Given the description of an element on the screen output the (x, y) to click on. 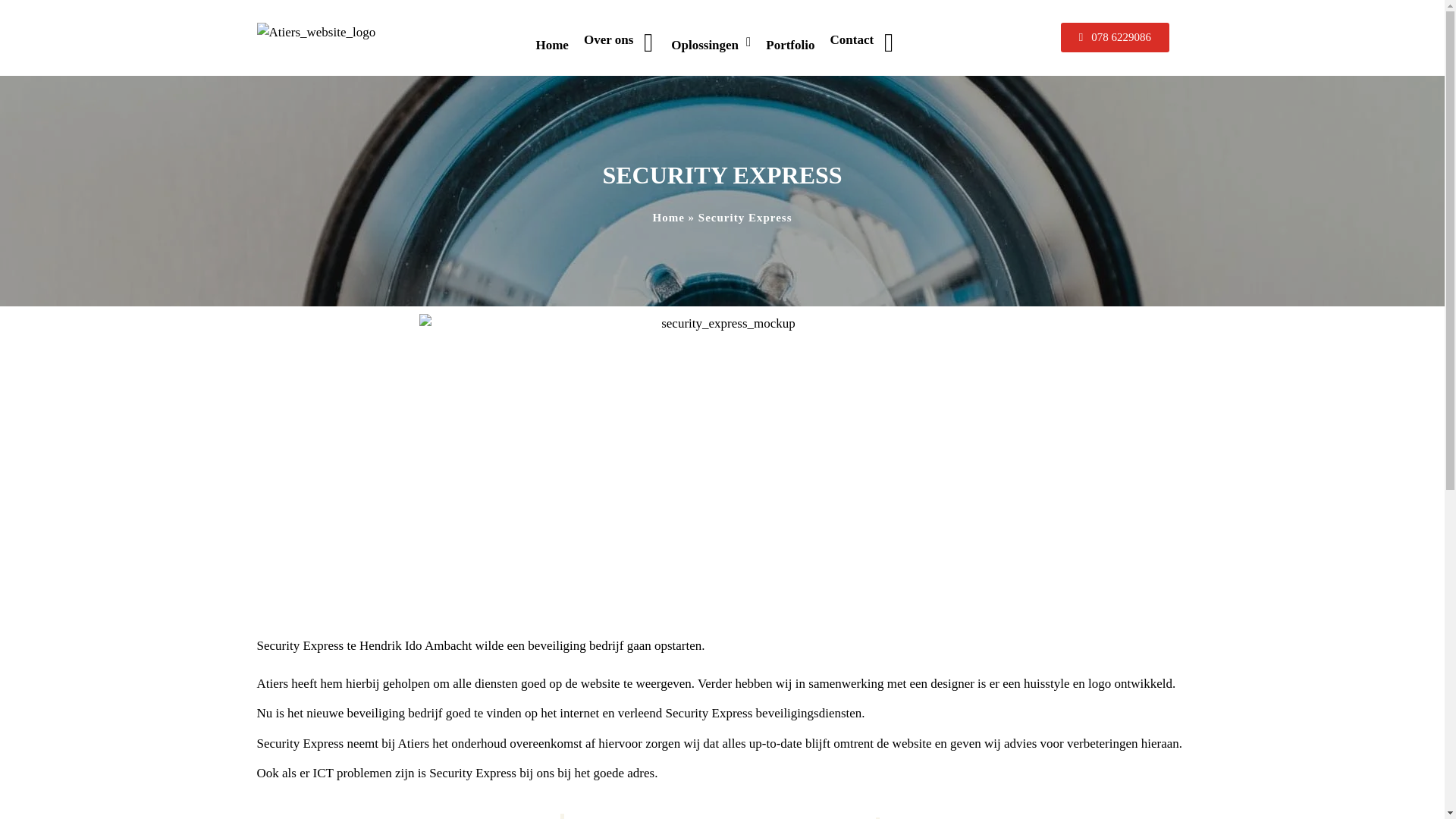
Portfolio (790, 44)
Home (551, 44)
Home (668, 217)
078 6229086 (1115, 37)
Contact (863, 44)
Oplossingen (710, 44)
Over ons (619, 44)
